Given the description of an element on the screen output the (x, y) to click on. 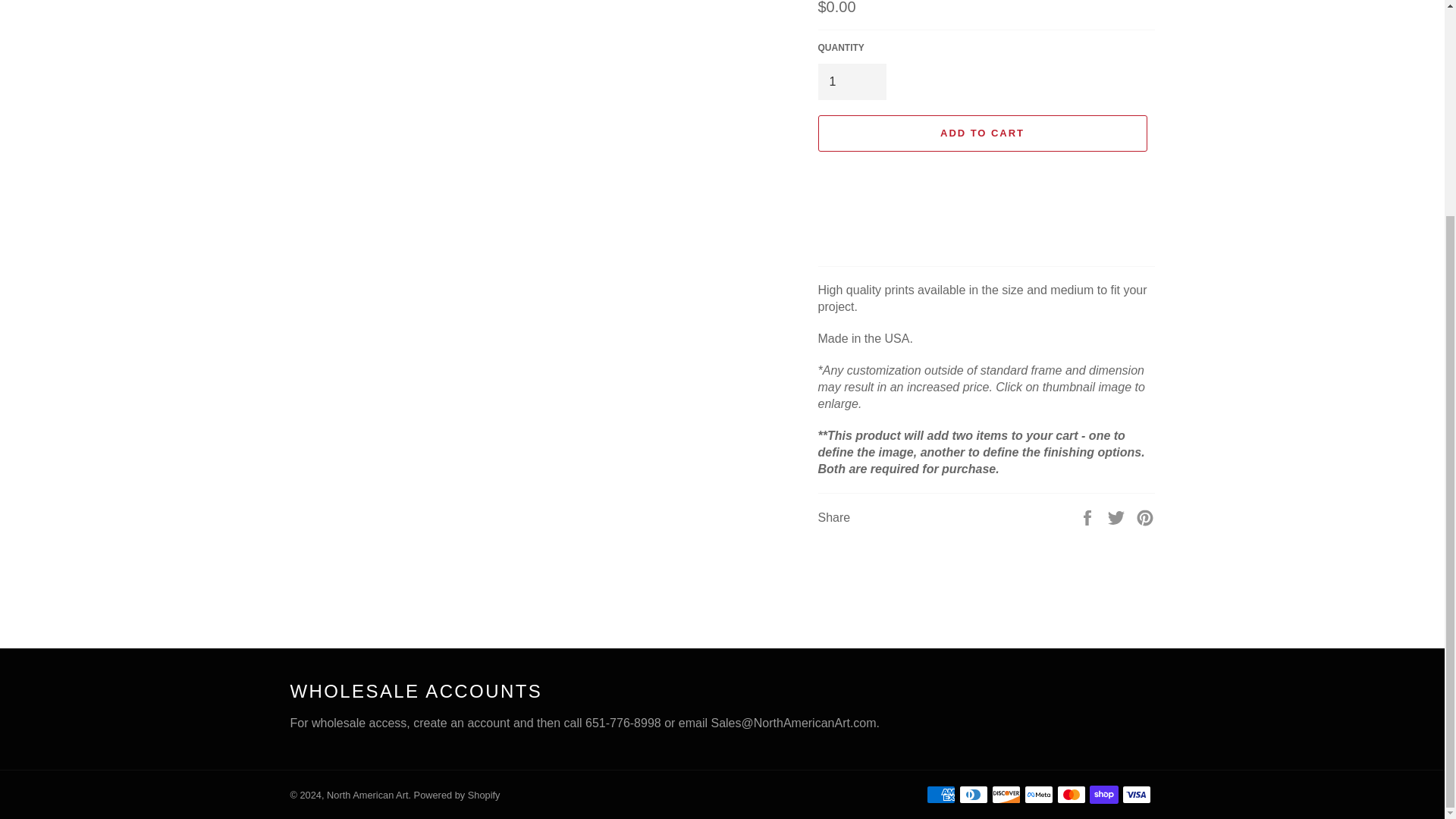
1 (850, 81)
Tweet on Twitter (1117, 516)
Pin on Pinterest (1144, 516)
Share on Facebook (1088, 516)
